Given the description of an element on the screen output the (x, y) to click on. 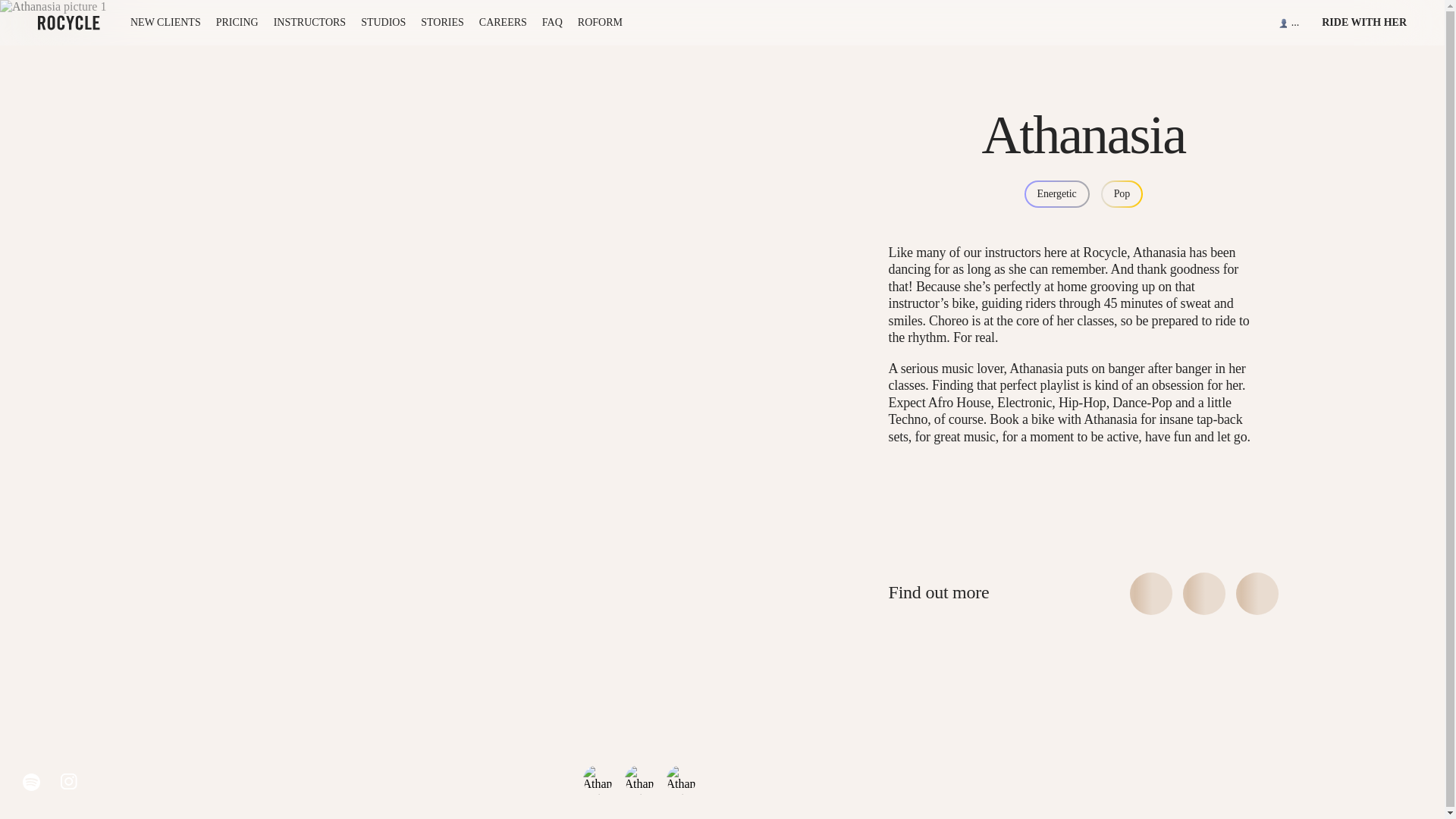
FAQ (551, 22)
... (1289, 22)
PRICING (237, 22)
NEW CLIENTS (165, 22)
STUDIOS (383, 22)
CAREERS (503, 22)
STORIES (442, 22)
ROFORM (600, 22)
RIDE WITH HER (1364, 22)
INSTRUCTORS (309, 22)
